Given the description of an element on the screen output the (x, y) to click on. 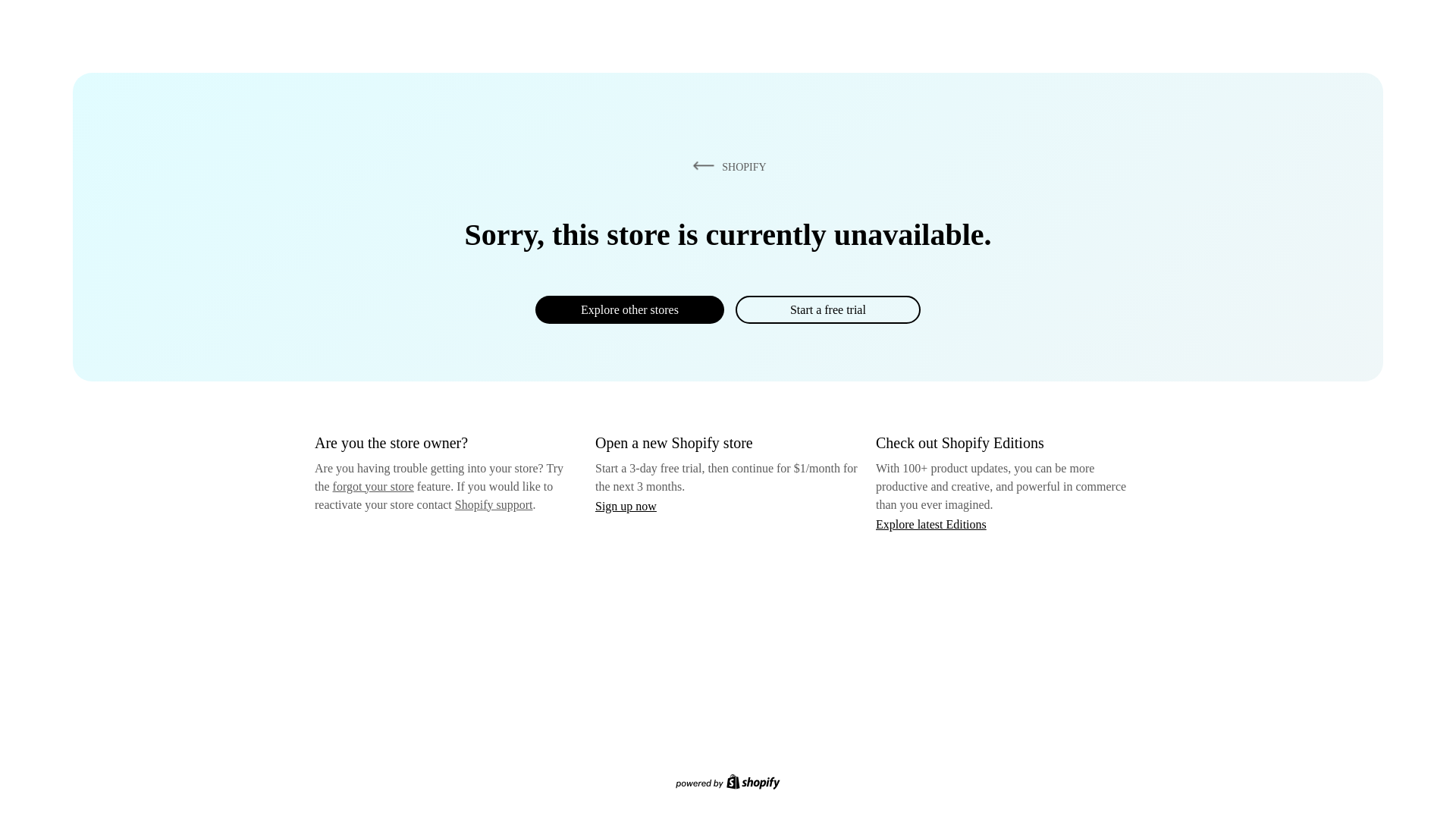
Explore latest Editions (931, 523)
Sign up now (625, 505)
Explore other stores (629, 309)
forgot your store (373, 486)
SHOPIFY (726, 166)
Start a free trial (827, 309)
Shopify support (493, 504)
